Given the description of an element on the screen output the (x, y) to click on. 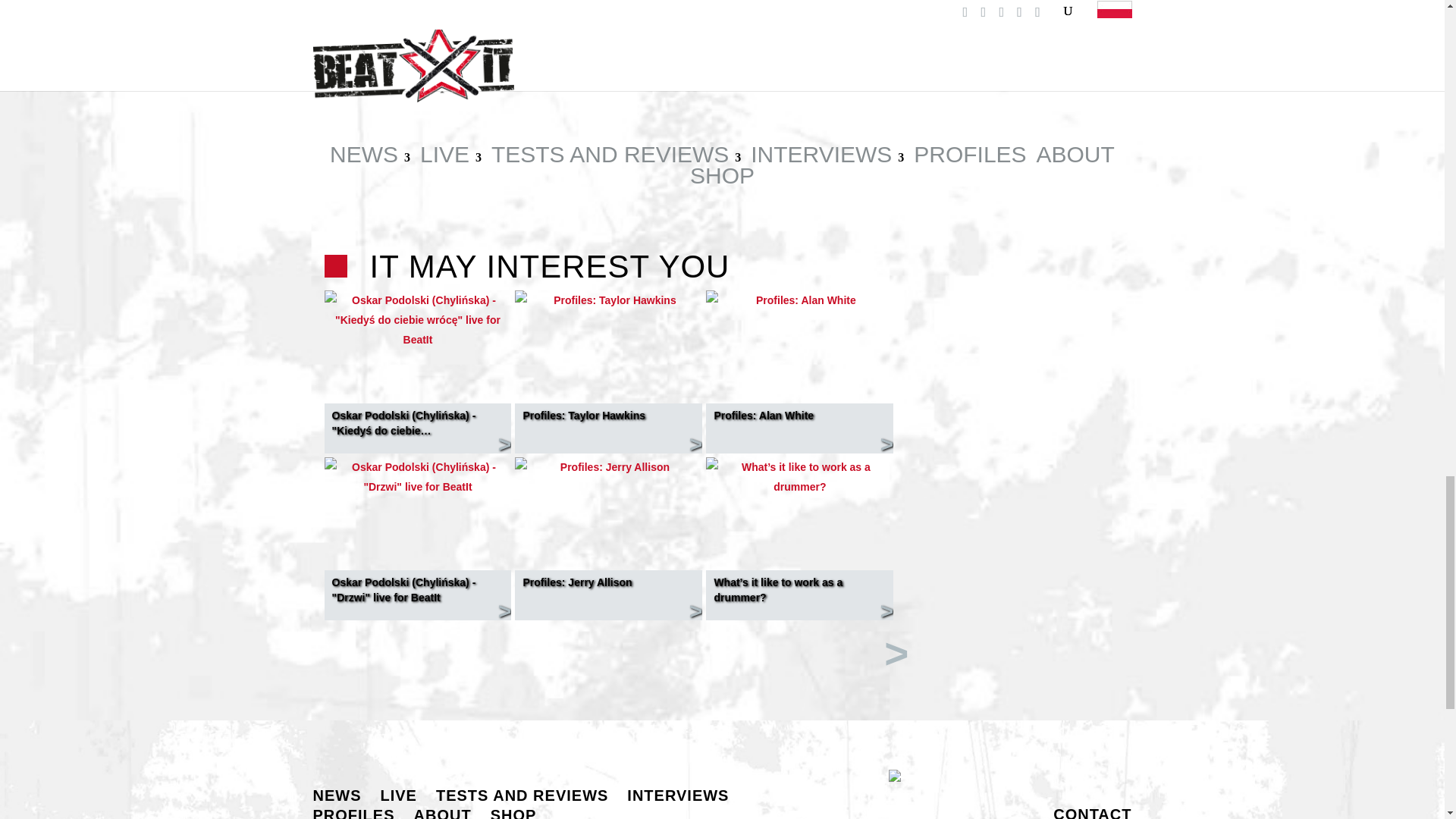
Profiles: Alan White (799, 300)
Profiles: Jerry Allison (608, 466)
Profiles: Taylor Hawkins (608, 300)
